Given the description of an element on the screen output the (x, y) to click on. 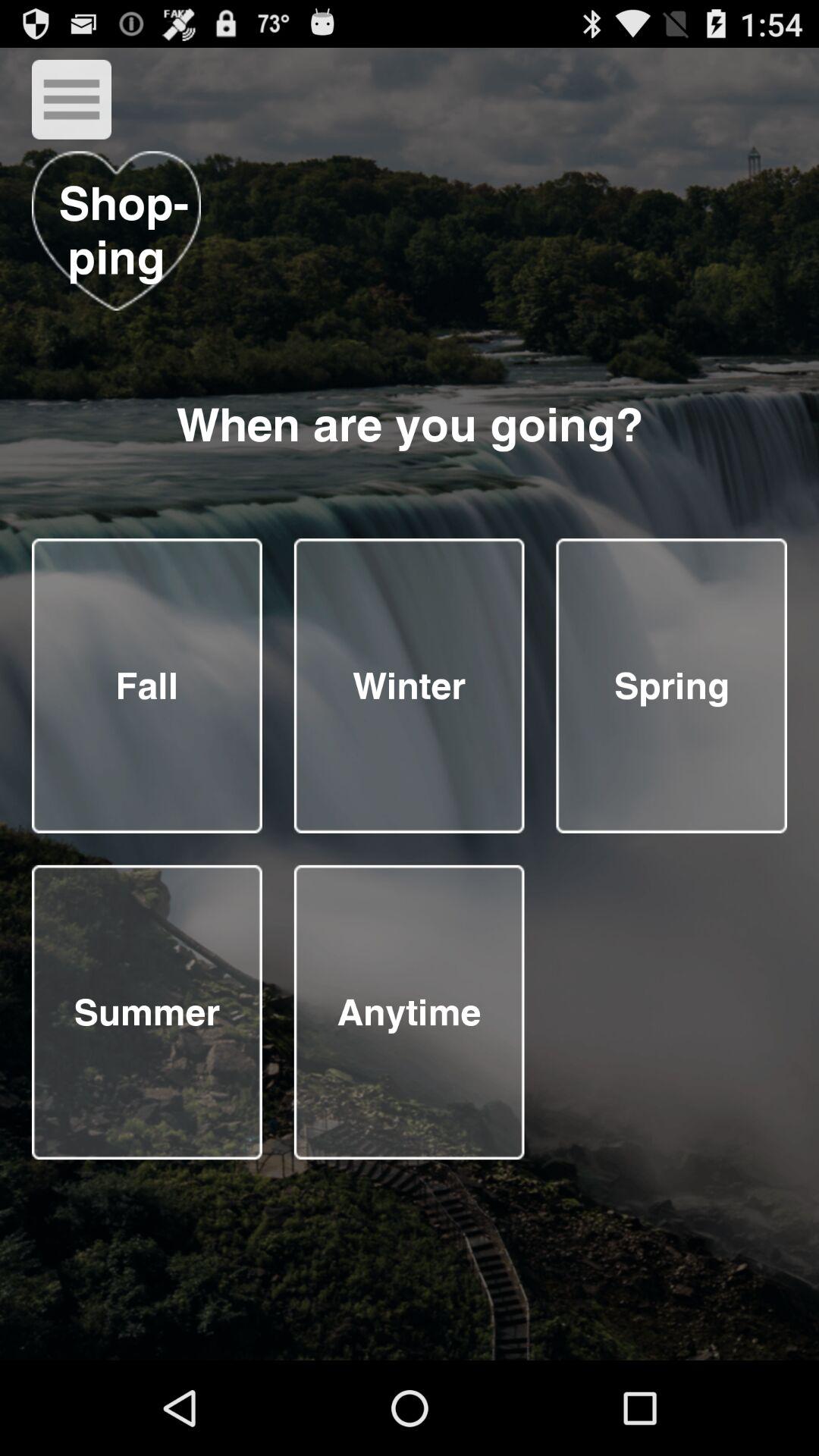
using in document fill (409, 1012)
